Given the description of an element on the screen output the (x, y) to click on. 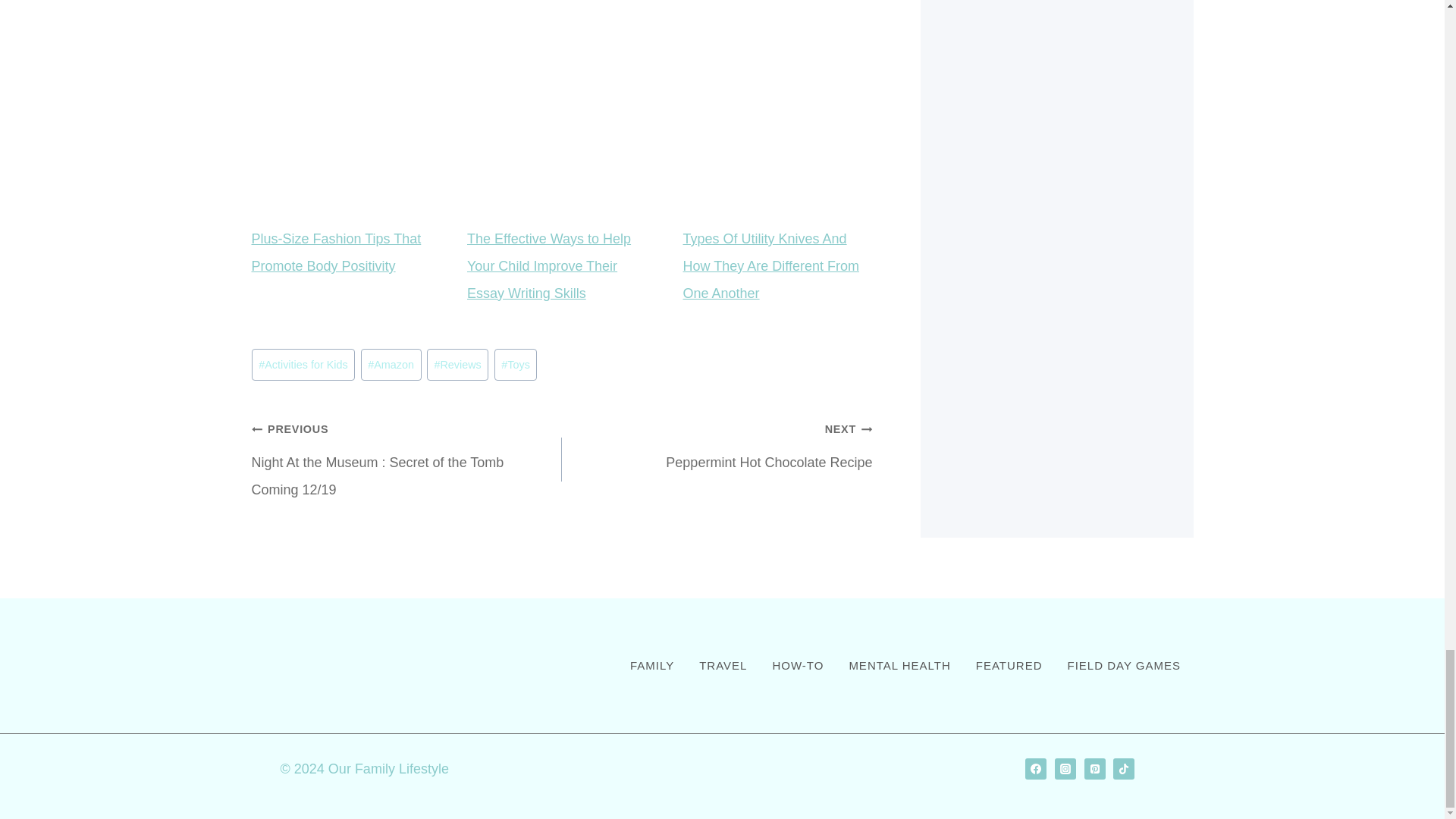
Reviews (457, 364)
Amazon (391, 364)
Activities for Kids (303, 364)
Toys (516, 364)
